Given the description of an element on the screen output the (x, y) to click on. 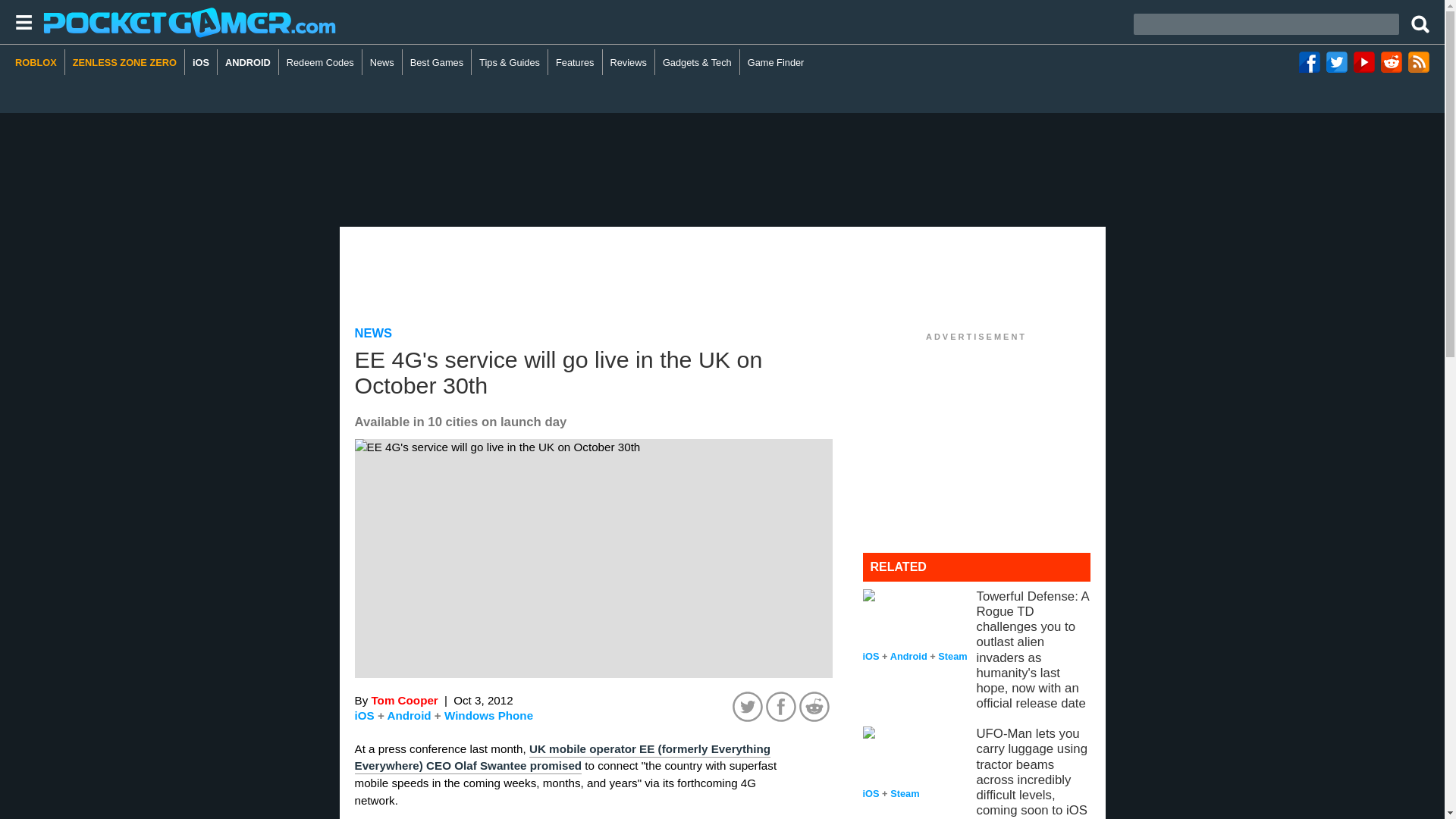
News (382, 62)
iOS (364, 715)
Best Games (437, 62)
Tom Cooper (404, 699)
Android (408, 715)
iOS (200, 62)
Game Finder (775, 62)
ROBLOX (39, 62)
Reviews (628, 62)
ZENLESS ZONE ZERO (124, 62)
ANDROID (247, 62)
NEWS (374, 332)
Redeem Codes (320, 62)
Windows Phone (488, 715)
Features (575, 62)
